Given the description of an element on the screen output the (x, y) to click on. 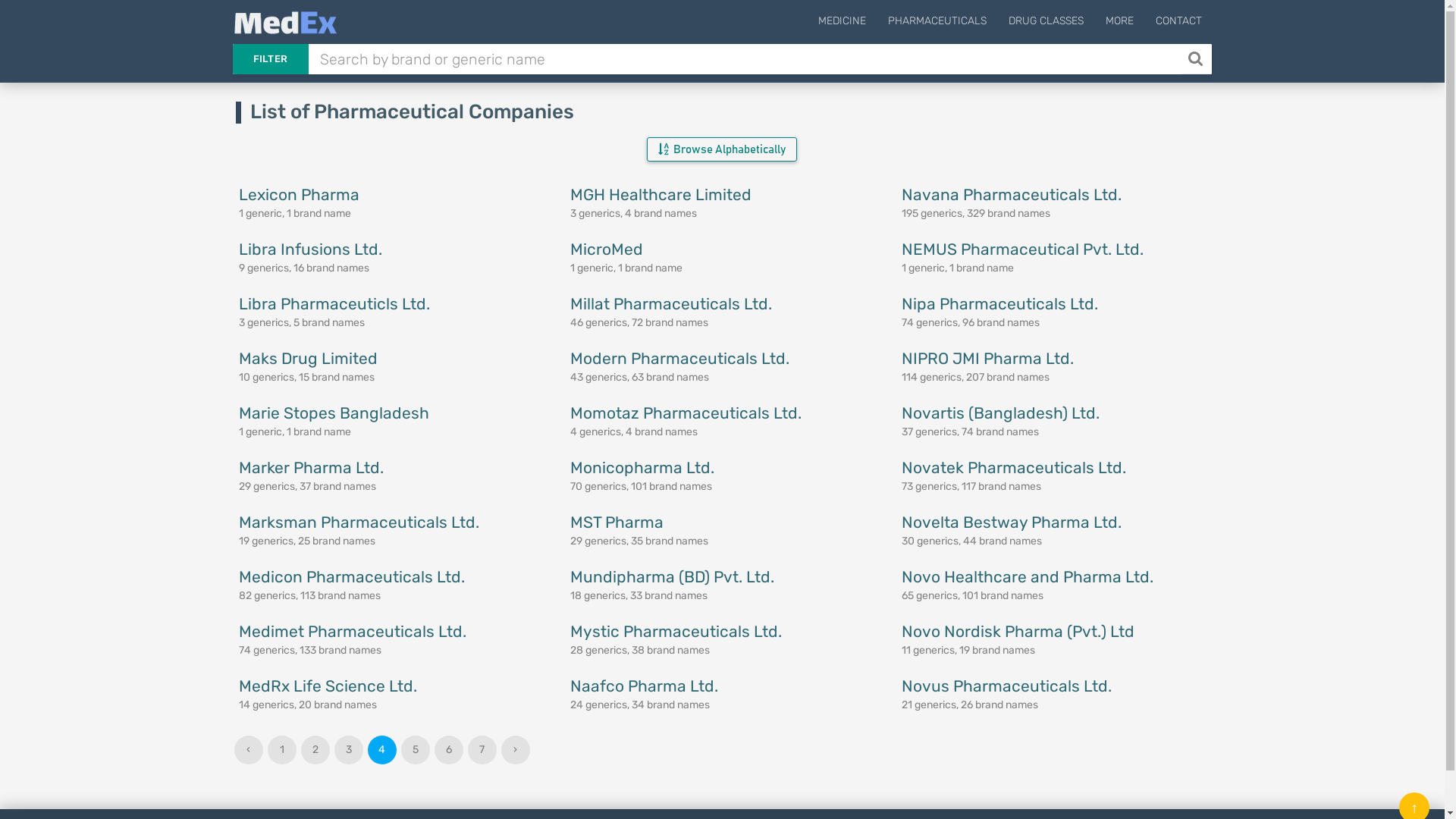
Modern Pharmaceuticals Ltd. Element type: text (679, 357)
Marksman Pharmaceuticals Ltd. Element type: text (358, 521)
Naafco Pharma Ltd. Element type: text (644, 685)
MedEx Element type: hover (285, 22)
Marie Stopes Bangladesh Element type: text (333, 412)
Search Element type: hover (1196, 58)
MicroMed Element type: text (606, 248)
Libra Infusions Ltd. Element type: text (309, 248)
Novartis (Bangladesh) Ltd. Element type: text (1000, 412)
Mystic Pharmaceuticals Ltd. Element type: text (675, 630)
3 Element type: text (348, 749)
MEDICINE Element type: text (841, 23)
Nipa Pharmaceuticals Ltd. Element type: text (999, 303)
Momotaz Pharmaceuticals Ltd. Element type: text (685, 412)
2 Element type: text (315, 749)
6 Element type: text (448, 749)
Millat Pharmaceuticals Ltd. Element type: text (670, 303)
NIPRO JMI Pharma Ltd. Element type: text (987, 357)
Lexicon Pharma Element type: text (298, 194)
Mundipharma (BD) Pvt. Ltd. Element type: text (672, 576)
MST Pharma Element type: text (616, 521)
Maks Drug Limited Element type: text (307, 357)
MedRx Life Science Ltd. Element type: text (327, 685)
1 Element type: text (281, 749)
Novatek Pharmaceuticals Ltd. Element type: text (1013, 467)
MGH Healthcare Limited Element type: text (660, 194)
Novo Healthcare and Pharma Ltd. Element type: text (1027, 576)
Navana Pharmaceuticals Ltd. Element type: text (1011, 194)
Libra Pharmaceuticls Ltd. Element type: text (333, 303)
7 Element type: text (482, 749)
Browse Alphabetically Element type: text (721, 149)
DRUG CLASSES Element type: text (1044, 23)
FILTER Element type: text (269, 58)
Medimet Pharmaceuticals Ltd. Element type: text (351, 630)
Medicon Pharmaceuticals Ltd. Element type: text (351, 576)
NEMUS Pharmaceutical Pvt. Ltd. Element type: text (1022, 248)
Monicopharma Ltd. Element type: text (642, 467)
5 Element type: text (415, 749)
PHARMACEUTICALS Element type: text (937, 23)
Marker Pharma Ltd. Element type: text (310, 467)
Novo Nordisk Pharma (Pvt.) Ltd Element type: text (1017, 630)
CONTACT Element type: text (1178, 23)
MORE Element type: text (1118, 23)
Novelta Bestway Pharma Ltd. Element type: text (1011, 521)
Novus Pharmaceuticals Ltd. Element type: text (1006, 685)
